Given the description of an element on the screen output the (x, y) to click on. 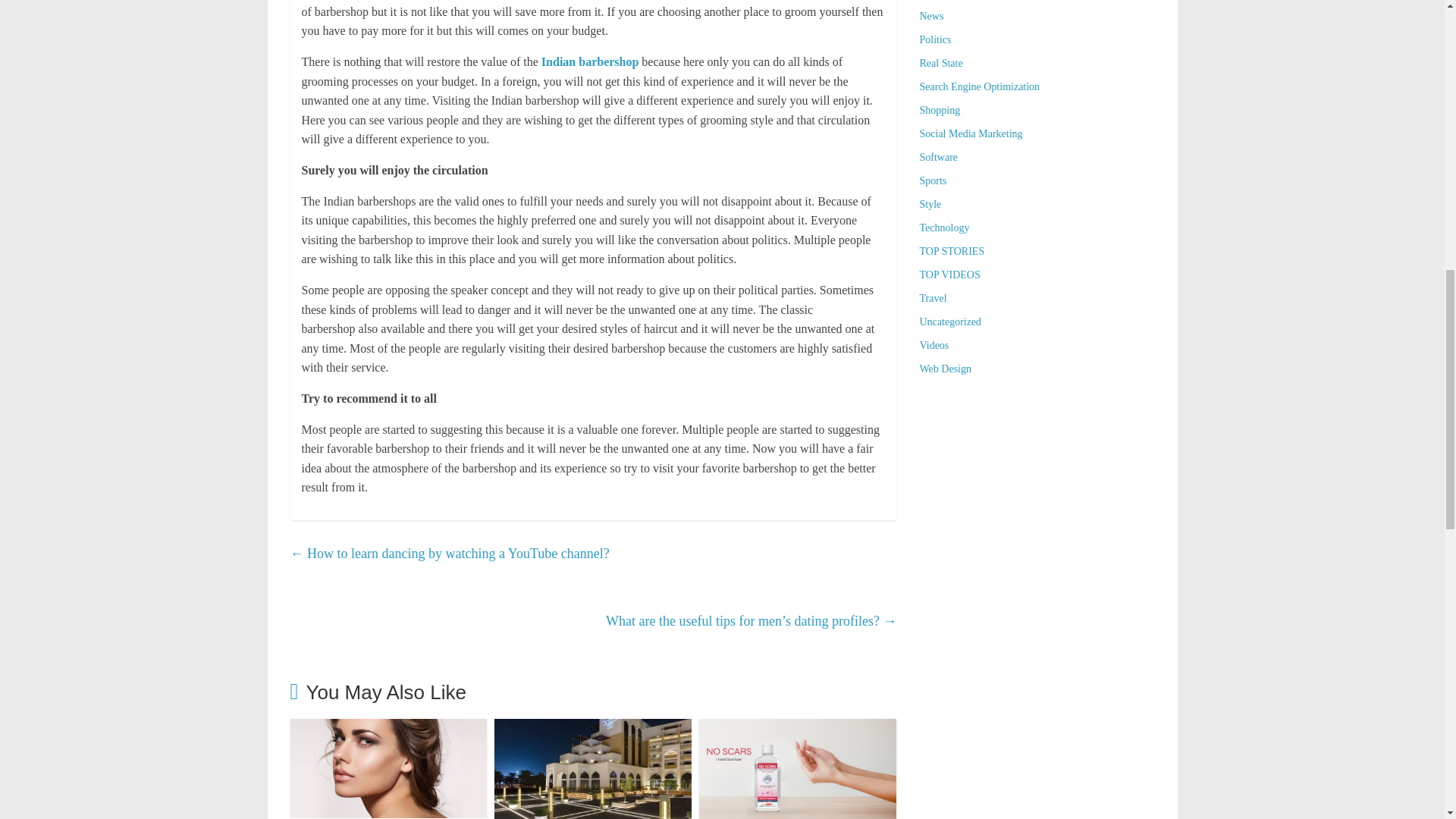
How to get the jawline with a simple exercise? (387, 727)
Indian barbershop (590, 61)
